Given the description of an element on the screen output the (x, y) to click on. 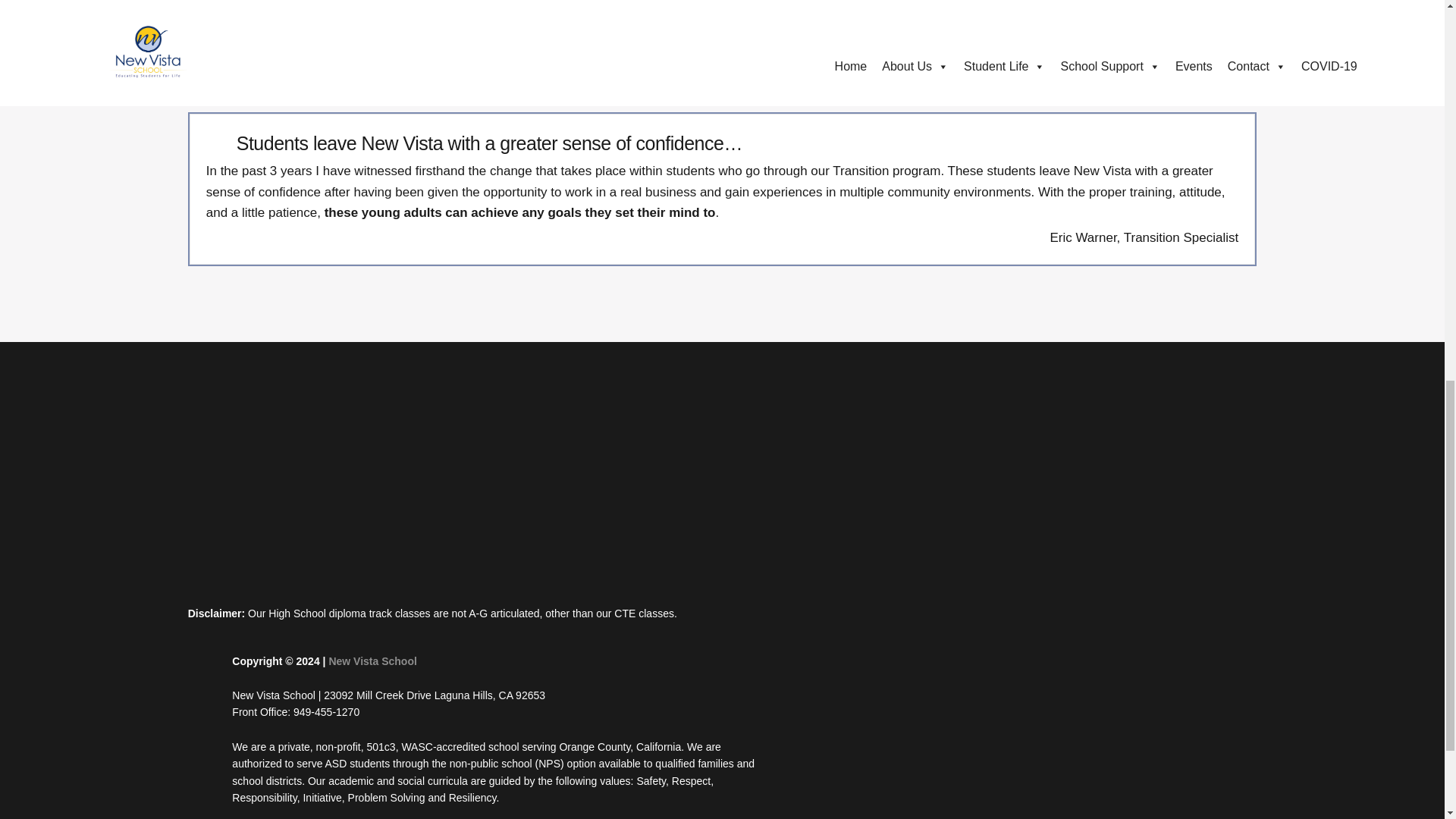
education (385, 499)
